Given the description of an element on the screen output the (x, y) to click on. 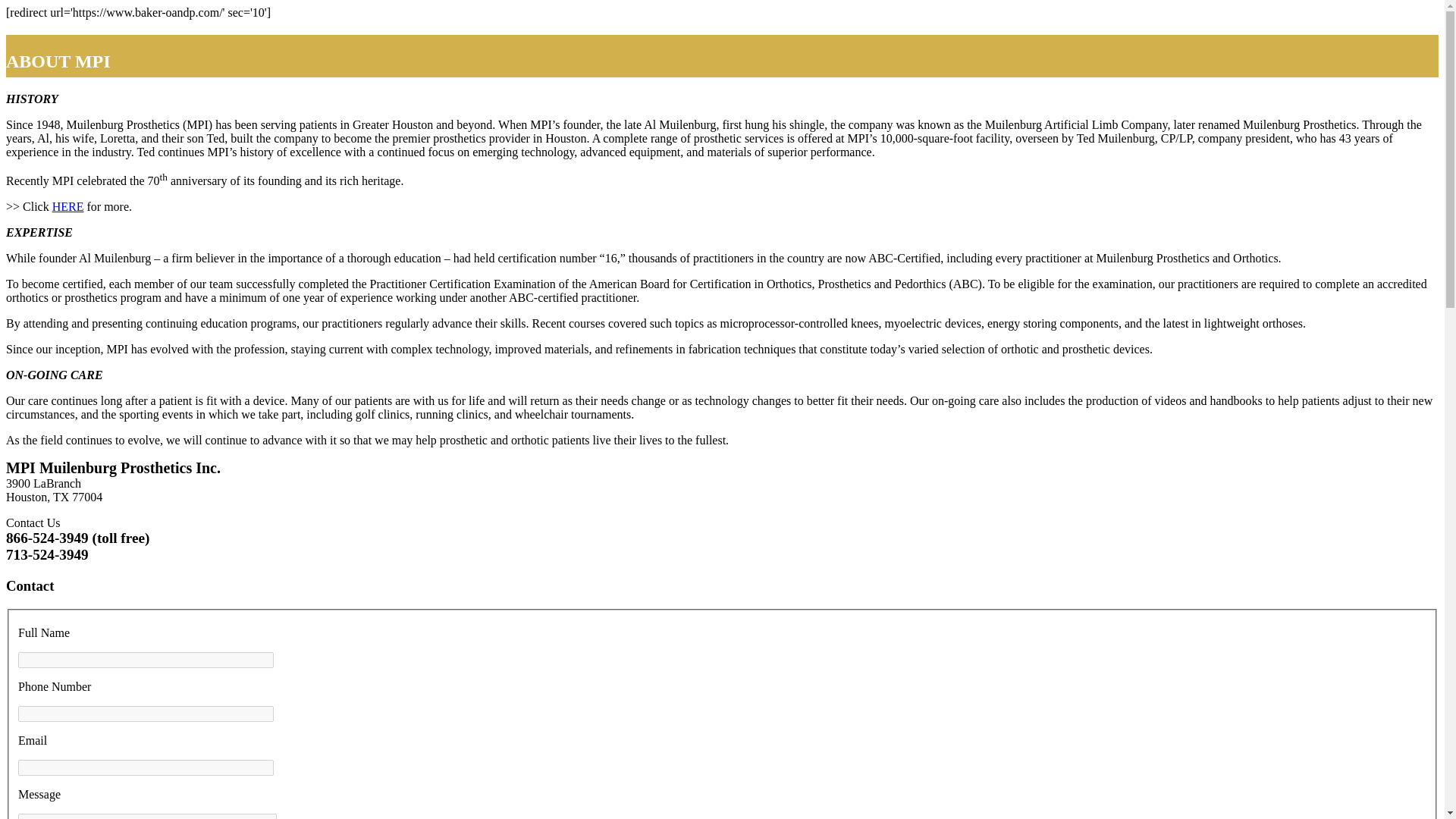
HERE (68, 205)
